Given the description of an element on the screen output the (x, y) to click on. 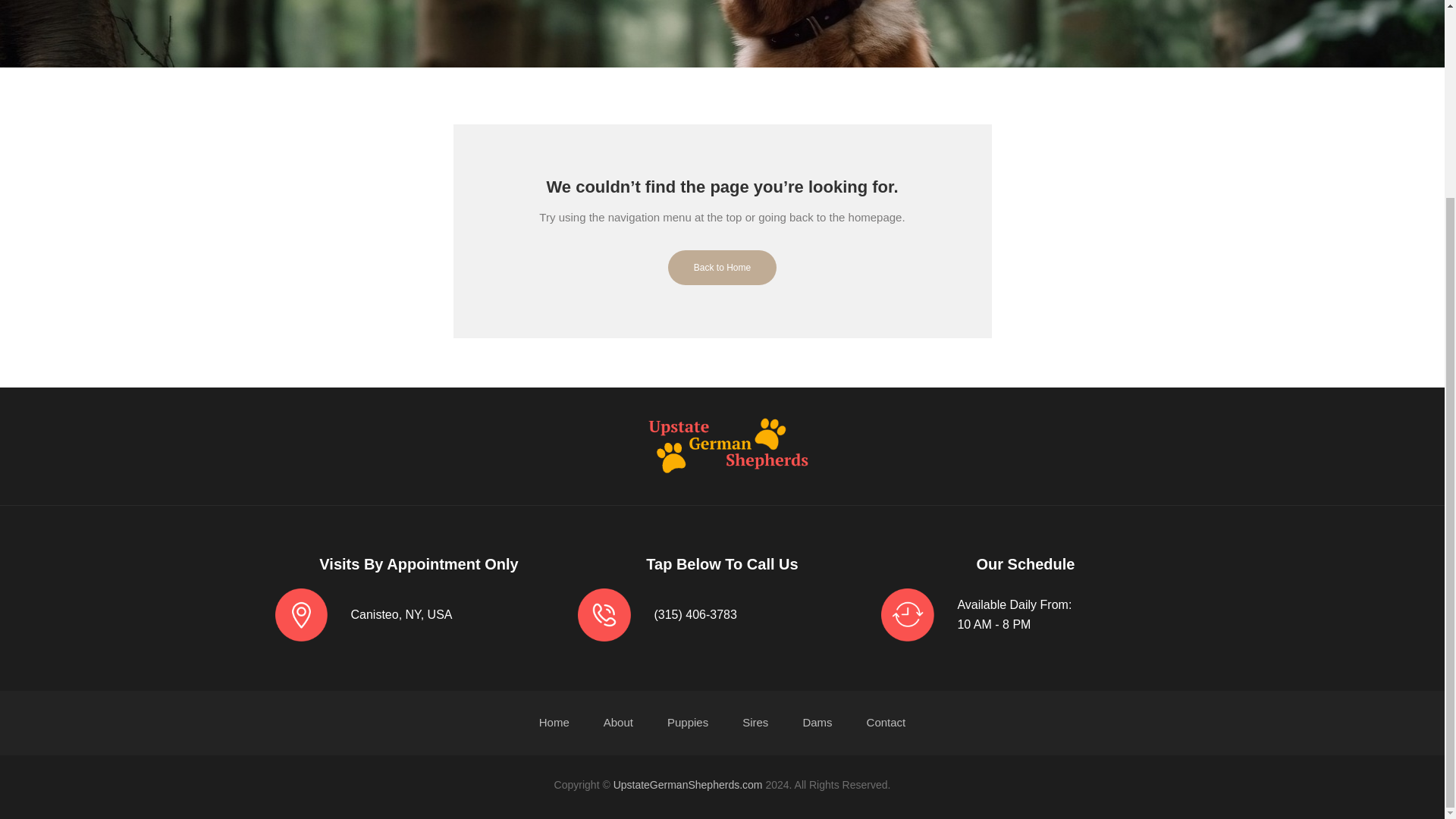
UpstateGermanShepherds.com (687, 784)
Home (553, 723)
About (618, 722)
Contact (885, 722)
Back to Home (722, 278)
Puppies (686, 722)
Sires (755, 722)
Dams (816, 722)
Upstate German Shepherds (721, 444)
